Given the description of an element on the screen output the (x, y) to click on. 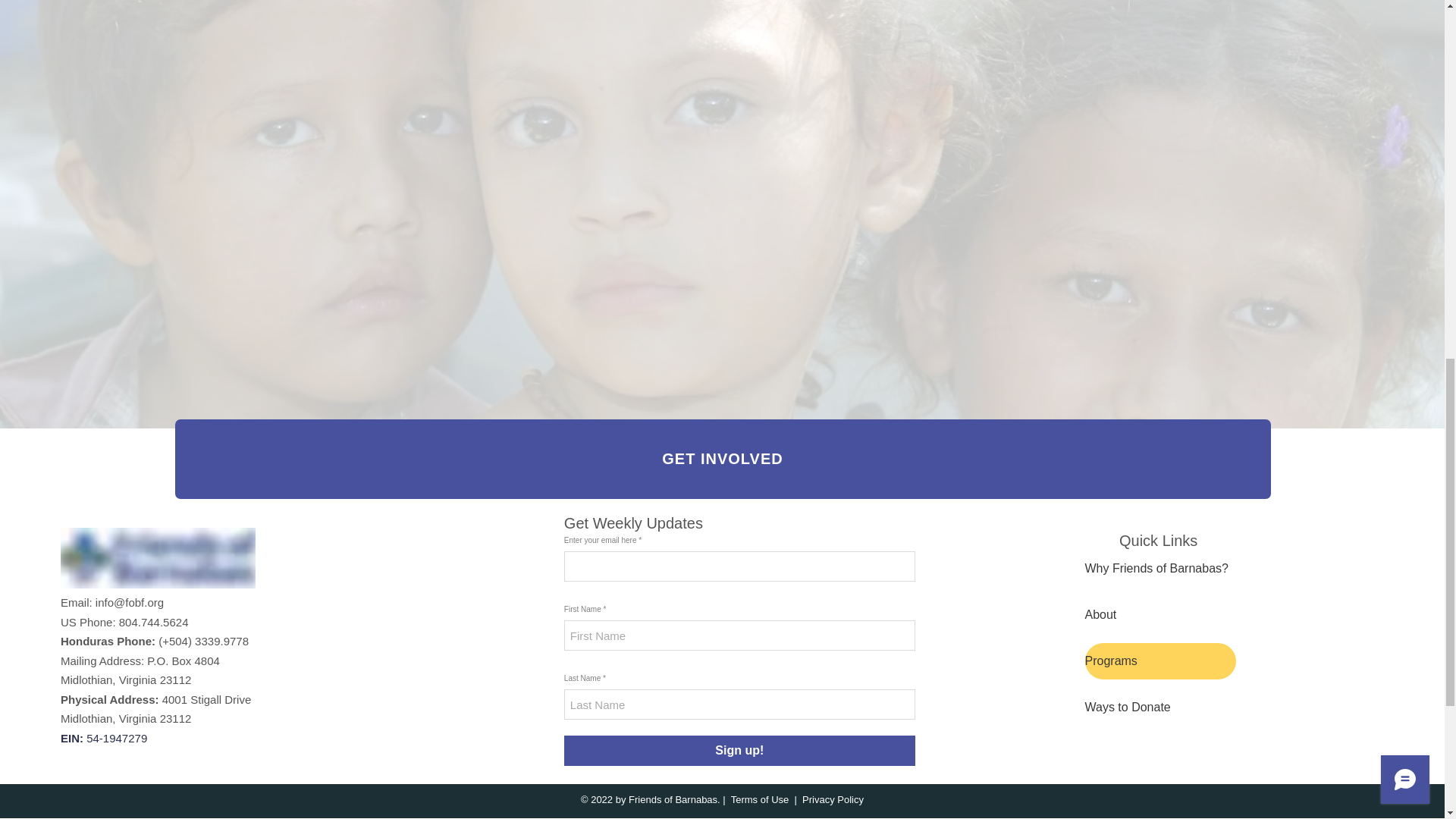
GET INVOLVED (721, 458)
Programs (1159, 660)
Ways to Donate (1159, 707)
Terms of Use (759, 799)
Sign up! (739, 750)
About (1159, 615)
Privacy Policy (832, 799)
Why Friends of Barnabas? (1159, 568)
FoBfinal.png (158, 557)
